Given the description of an element on the screen output the (x, y) to click on. 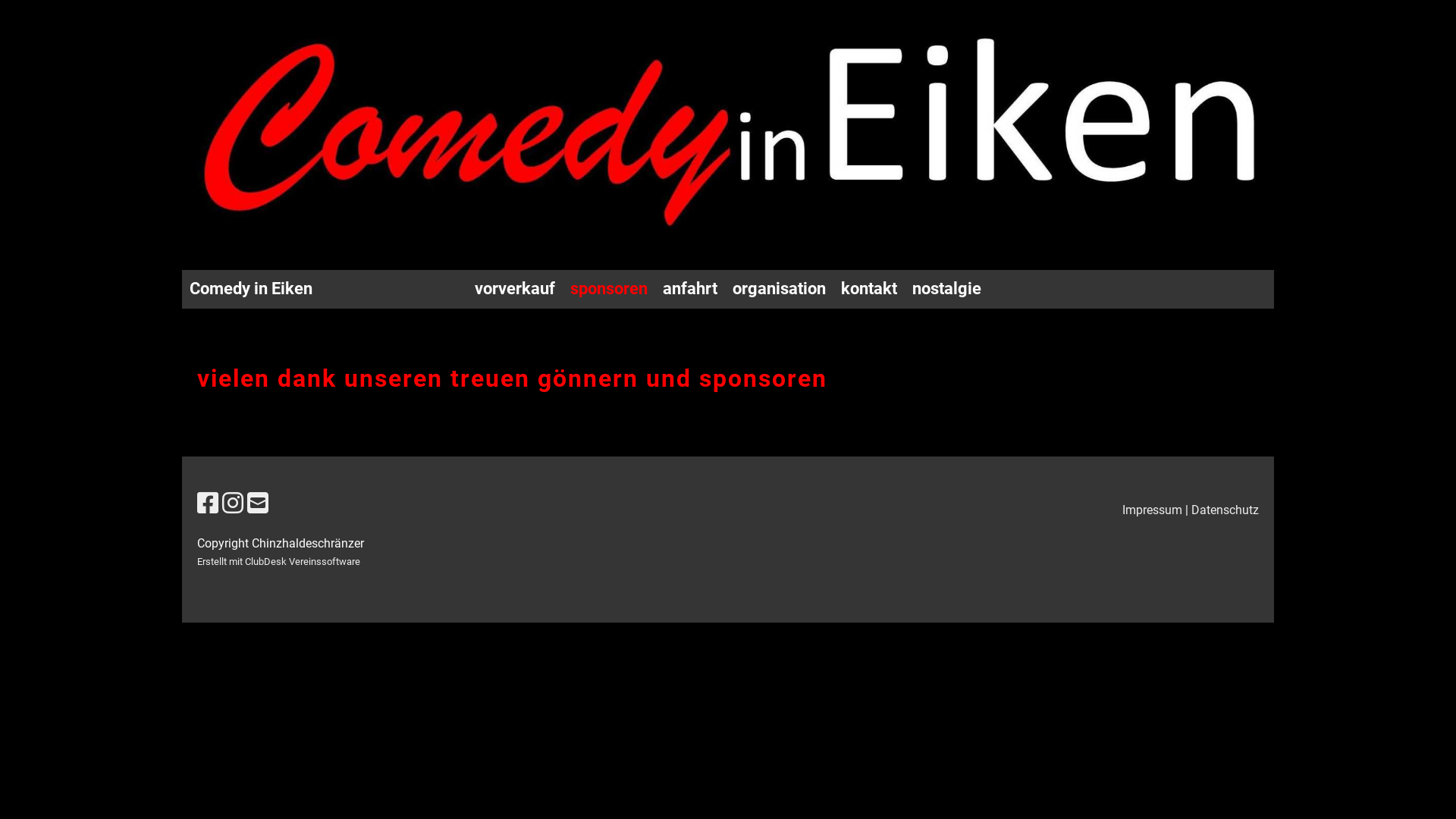
Erstellt mit ClubDesk Vereinssoftware Element type: text (278, 561)
nostalgie Element type: text (946, 288)
anfahrt Element type: text (689, 288)
Datenschutz Element type: text (1224, 509)
kontakt Element type: text (868, 288)
Comedy in Eiken Element type: text (251, 289)
Impressum Element type: text (1152, 509)
vorverkauf Element type: text (514, 288)
sponsoren Element type: text (608, 288)
organisation Element type: text (778, 288)
